Given the description of an element on the screen output the (x, y) to click on. 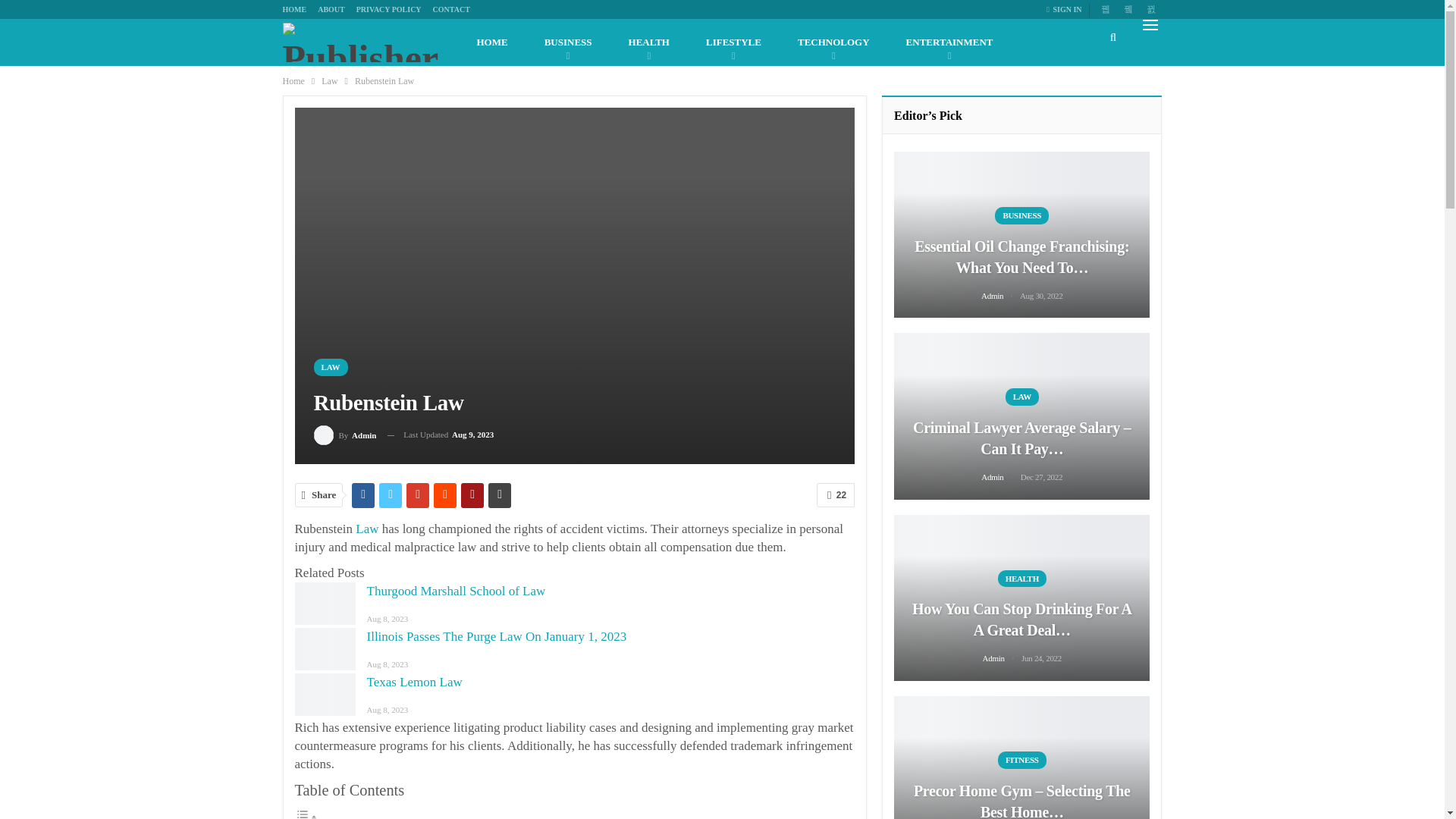
Texas Lemon Law (324, 694)
HOME (491, 42)
BUSINESS (567, 42)
HEALTH (648, 42)
Thurgood Marshall School of Law (324, 603)
LIFESTYLE (732, 42)
Illinois Passes The Purge Law On January 1, 2023 (324, 649)
Browse Author Articles (345, 435)
CONTACT (451, 8)
